Given the description of an element on the screen output the (x, y) to click on. 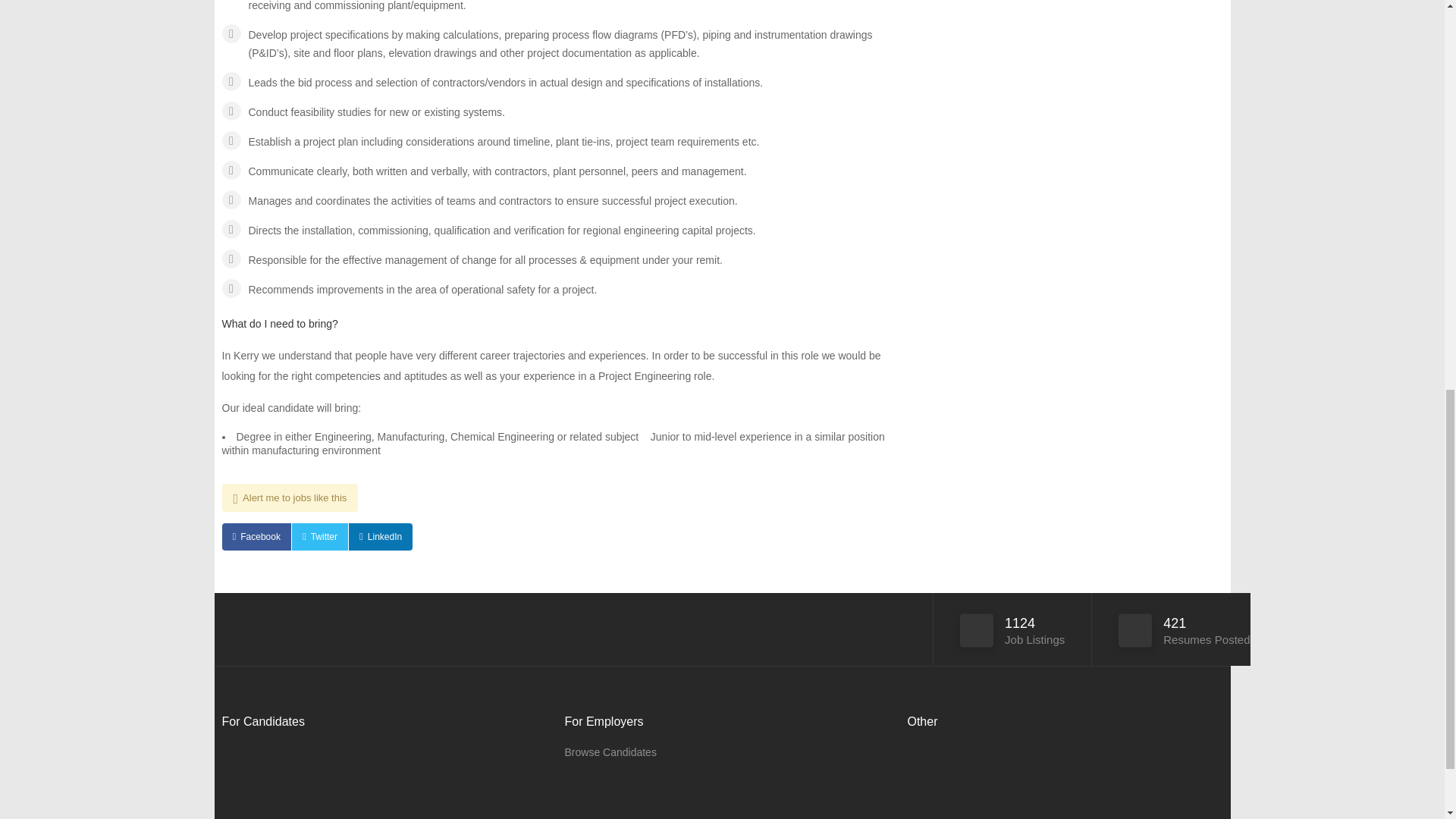
LinkedIn (380, 536)
Alert me to jobs like this (289, 497)
Browse Candidates (610, 752)
Facebook (255, 536)
Twitter (319, 536)
Twitter (319, 536)
